Given the description of an element on the screen output the (x, y) to click on. 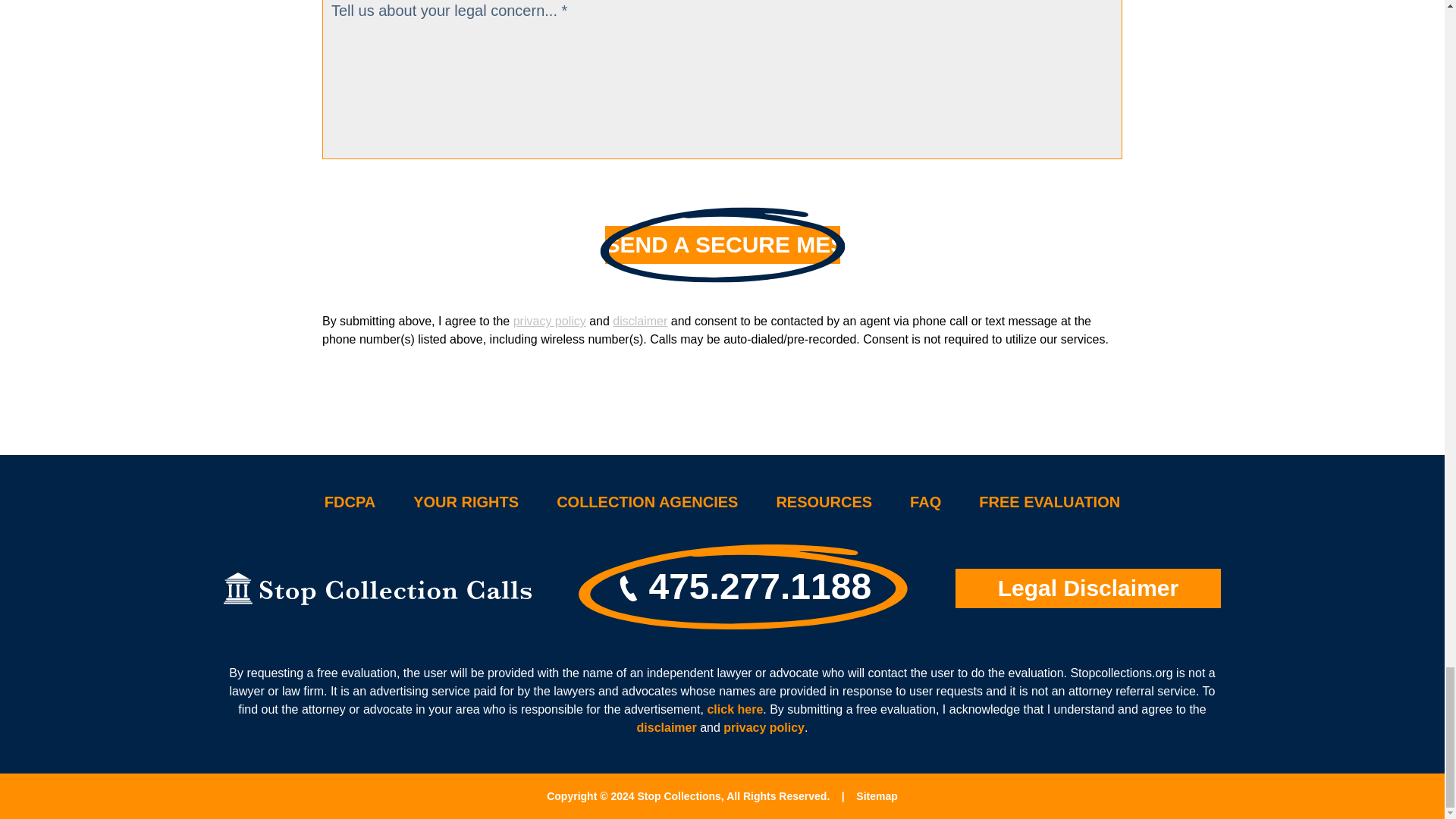
FAQ (925, 501)
FREE EVALUATION (1048, 501)
Send a Secure Message (722, 244)
Send a Secure Message (722, 244)
RESOURCES (824, 501)
disclaimer (639, 320)
YOUR RIGHTS (465, 501)
FDCPA (349, 501)
privacy policy (549, 320)
COLLECTION AGENCIES (647, 501)
